Given the description of an element on the screen output the (x, y) to click on. 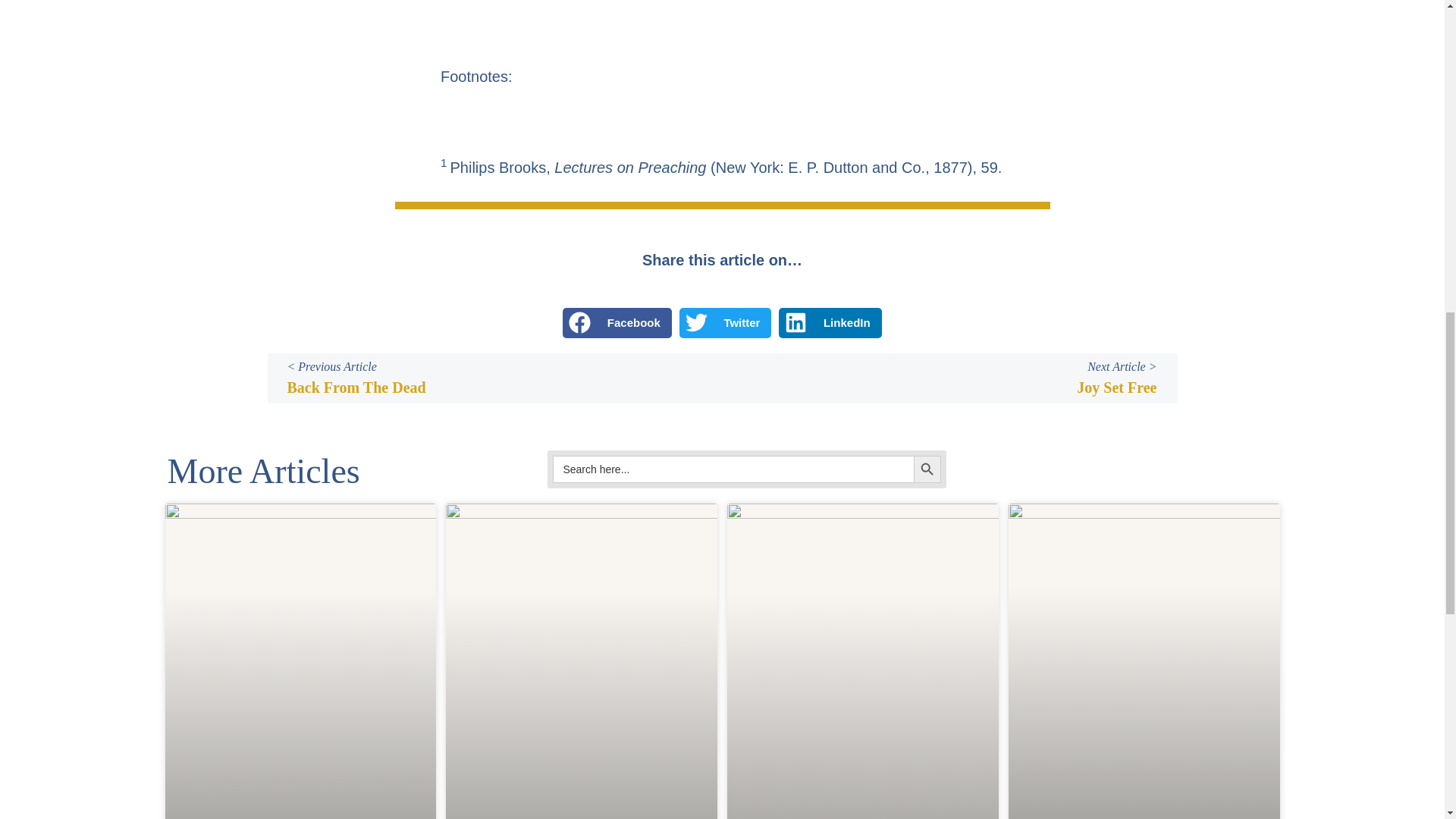
Search Button (927, 469)
